Given the description of an element on the screen output the (x, y) to click on. 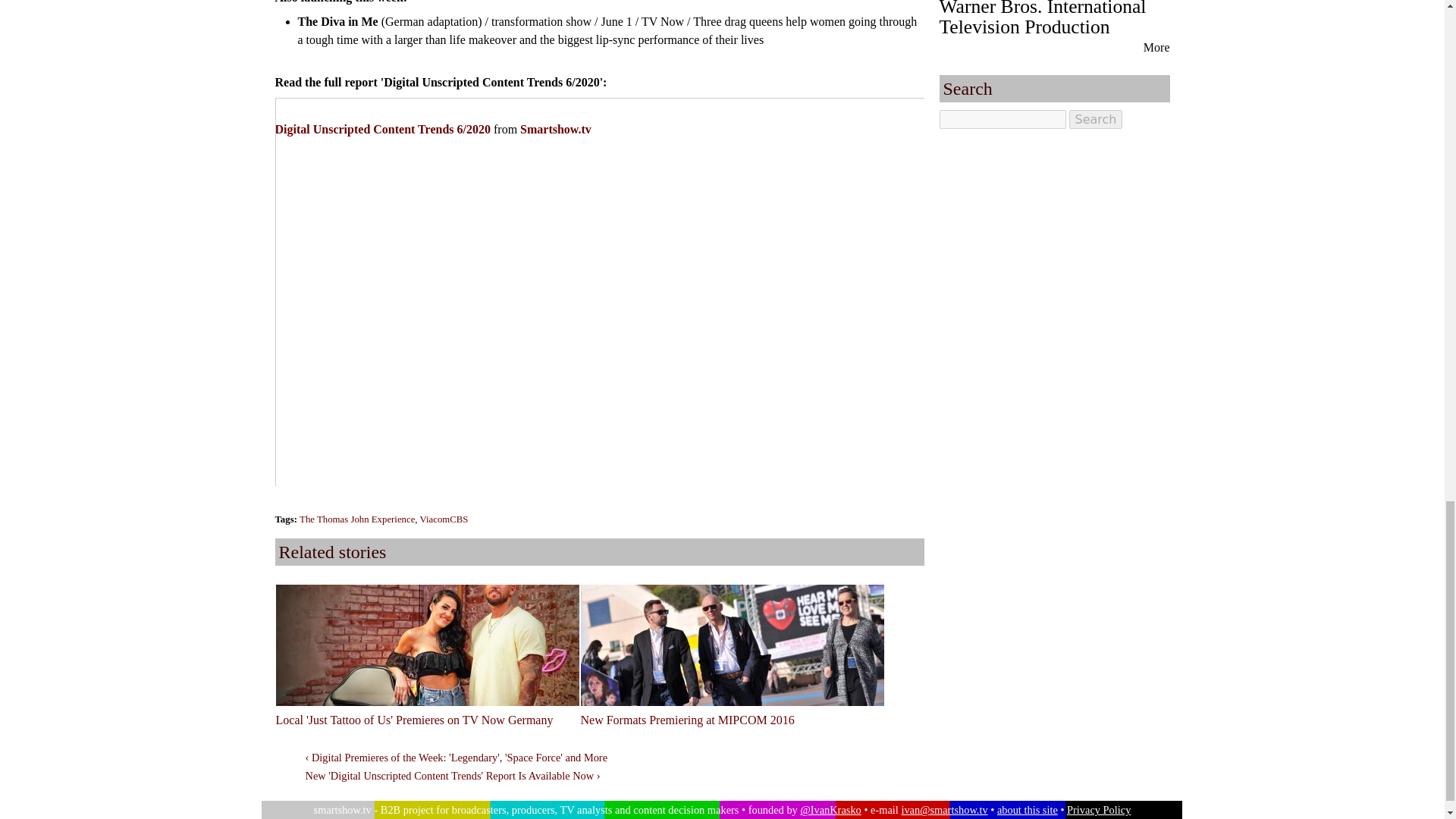
The Thomas John Experience (356, 519)
New Formats Premiering at MIPCOM 2016 (687, 719)
ViacomCBS (444, 519)
Smartshow.tv (555, 128)
Local 'Just Tattoo of Us' Premieres on TV Now Germany (414, 719)
Search (1095, 118)
